Given the description of an element on the screen output the (x, y) to click on. 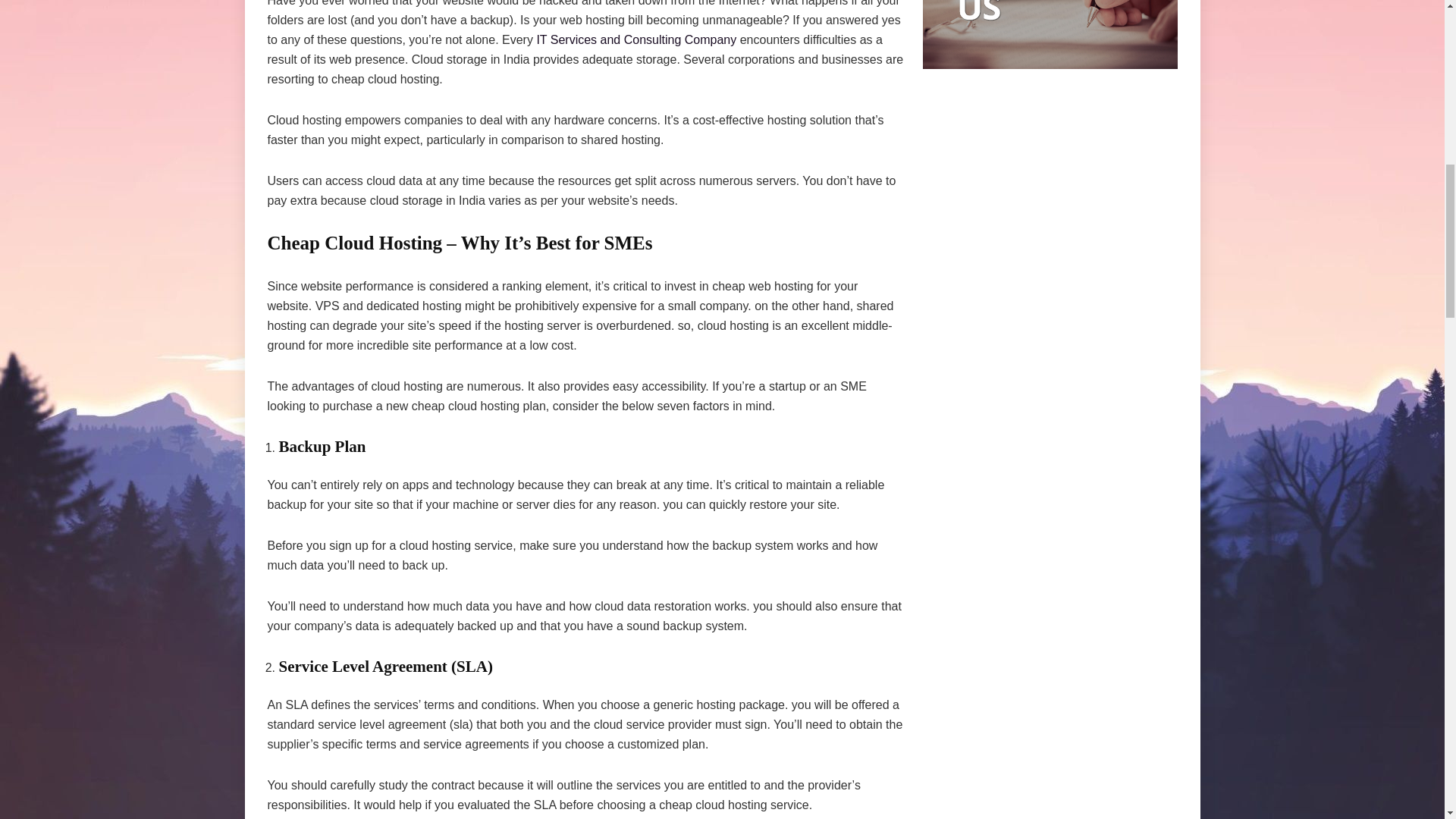
IT Services and Consulting Company (635, 39)
Advertisement (1048, 453)
